Given the description of an element on the screen output the (x, y) to click on. 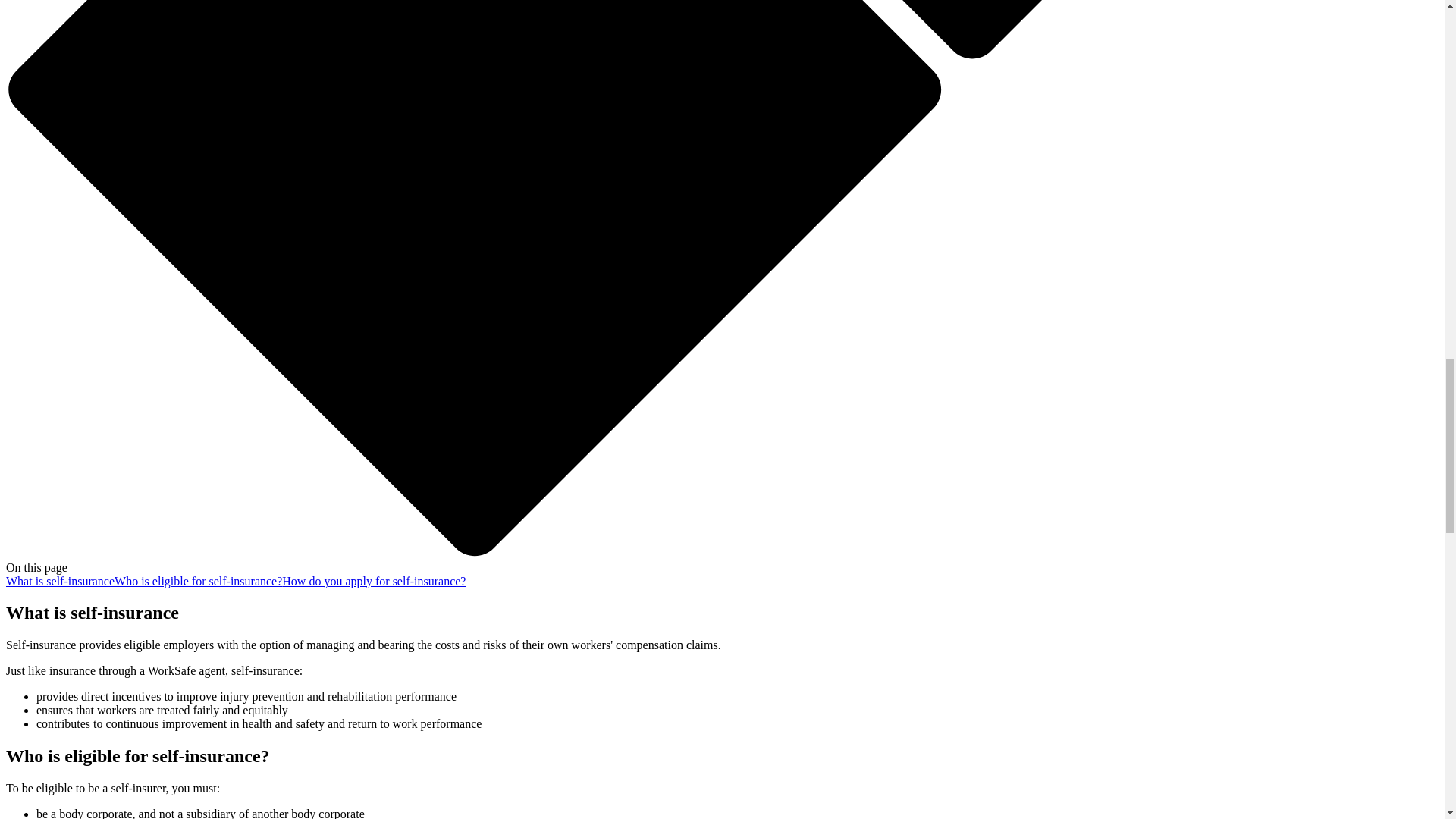
How do you apply for self-insurance? (373, 581)
Who is eligible for self-insurance? (198, 581)
What is self-insurance (60, 581)
Who is eligible for self-insurance? (198, 581)
What is self-insurance (60, 581)
How do you apply for self-insurance? (373, 581)
